Given the description of an element on the screen output the (x, y) to click on. 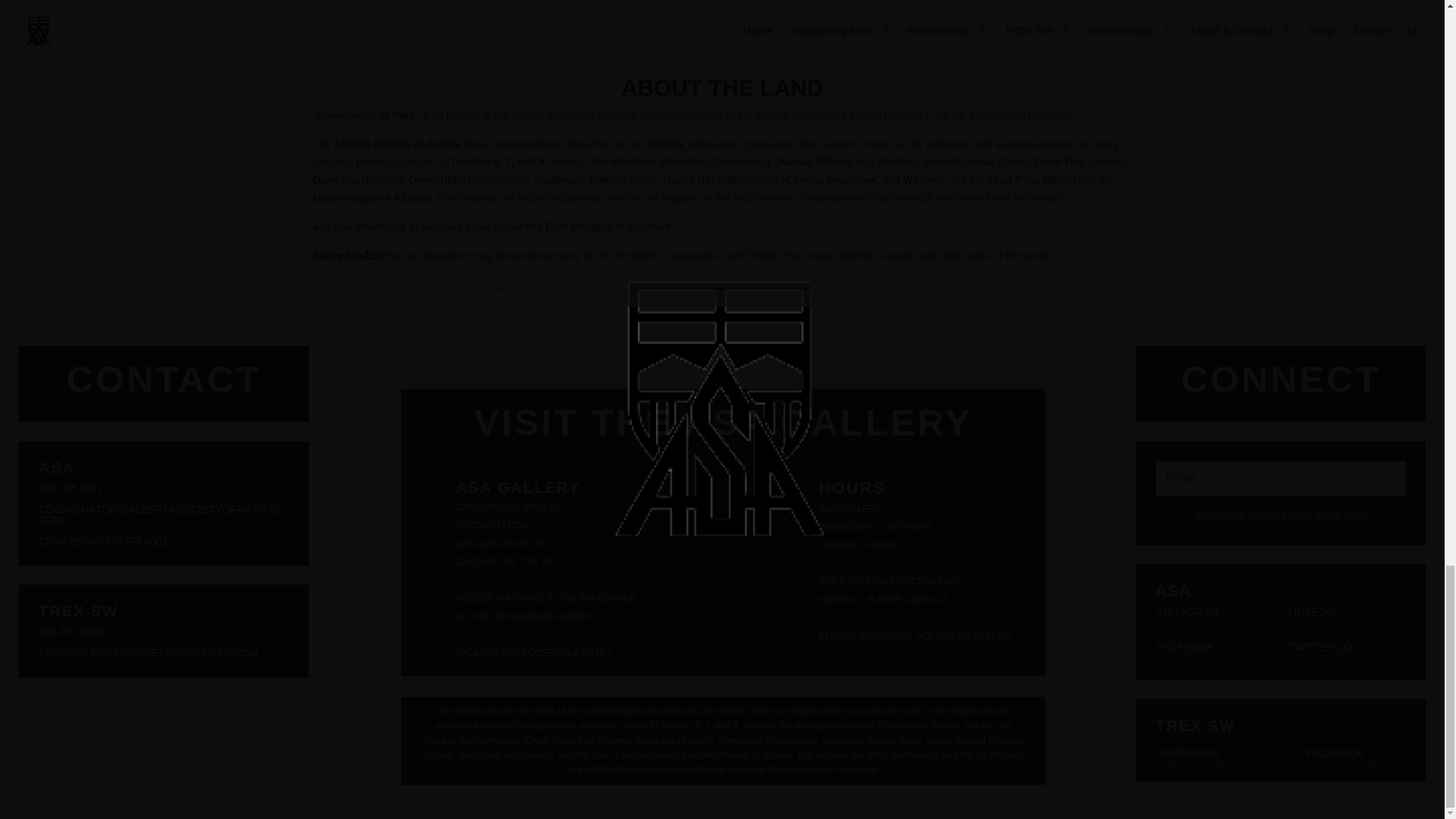
403-813-5861 (735, 20)
